Given the description of an element on the screen output the (x, y) to click on. 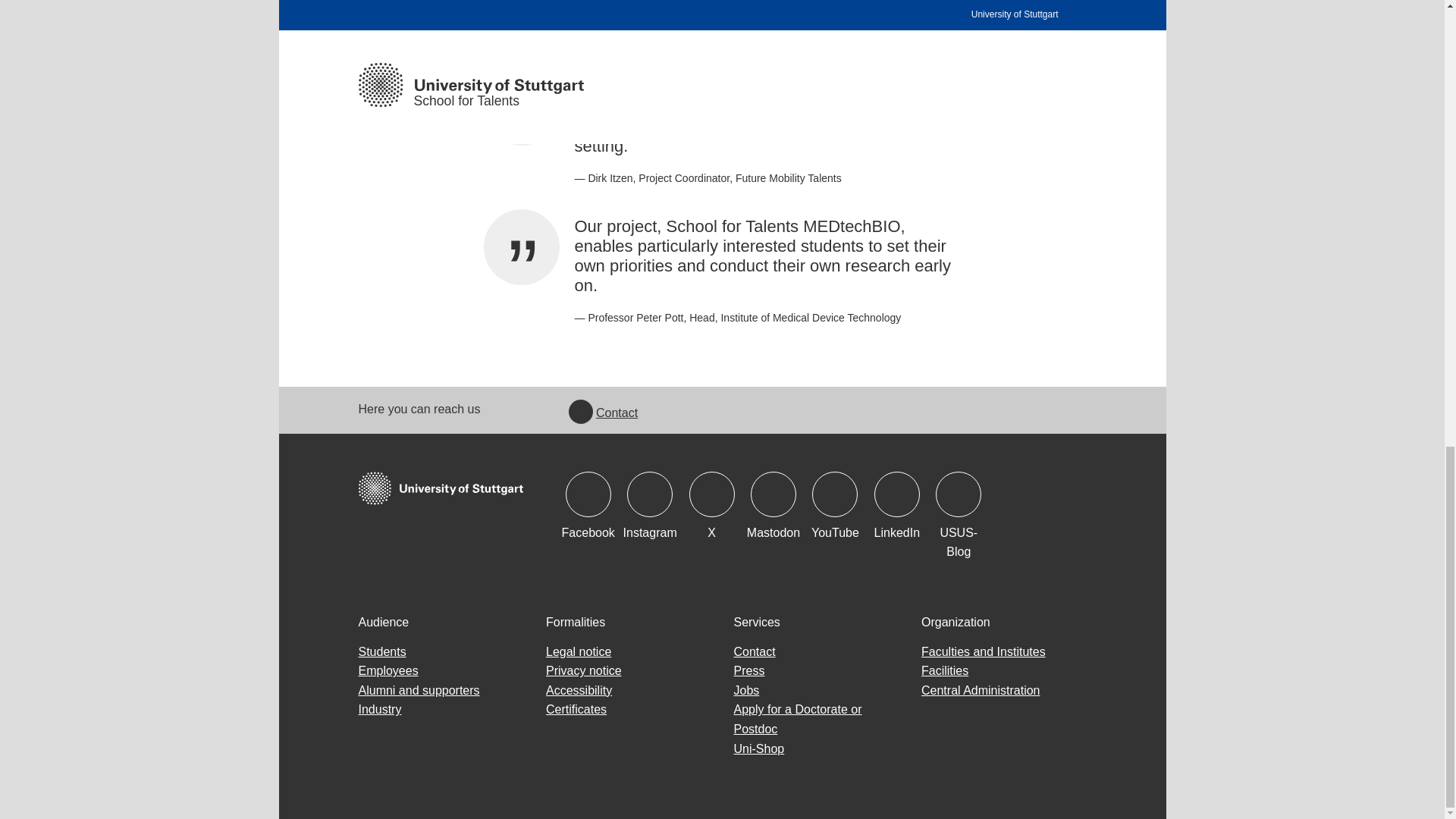
CURIOUS? EXPLORE OUR PROJECTS HERE! (721, 27)
Icon: Mastodon (773, 493)
Icon: USUS-Blog (958, 493)
Icon: Facebook (588, 493)
Contact (603, 412)
Icon: Instagram (649, 493)
Icon: X (711, 493)
Icon: YouTube (834, 493)
Icon: LinkedIn (897, 493)
